Given the description of an element on the screen output the (x, y) to click on. 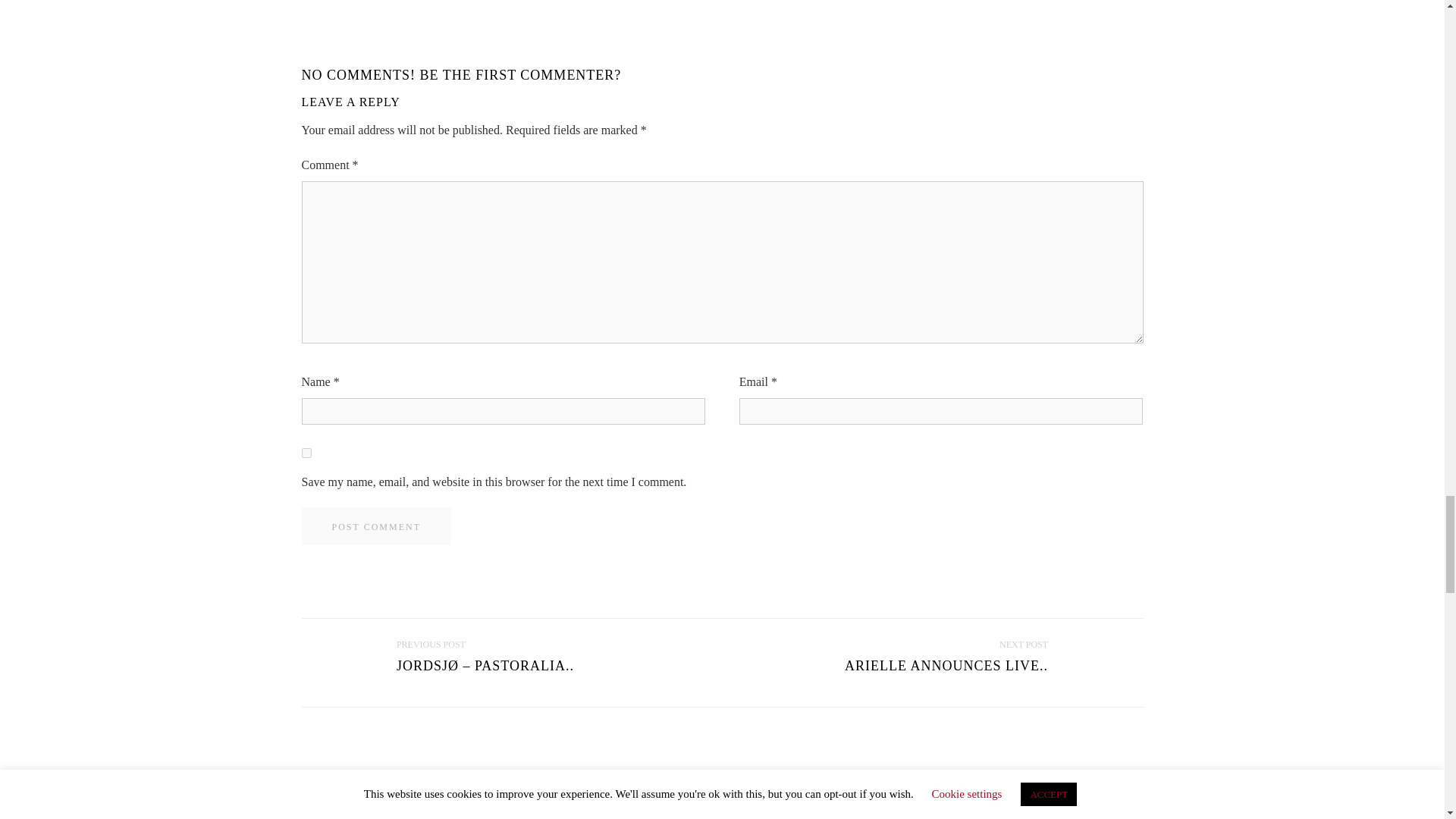
Post Comment (376, 525)
